Given the description of an element on the screen output the (x, y) to click on. 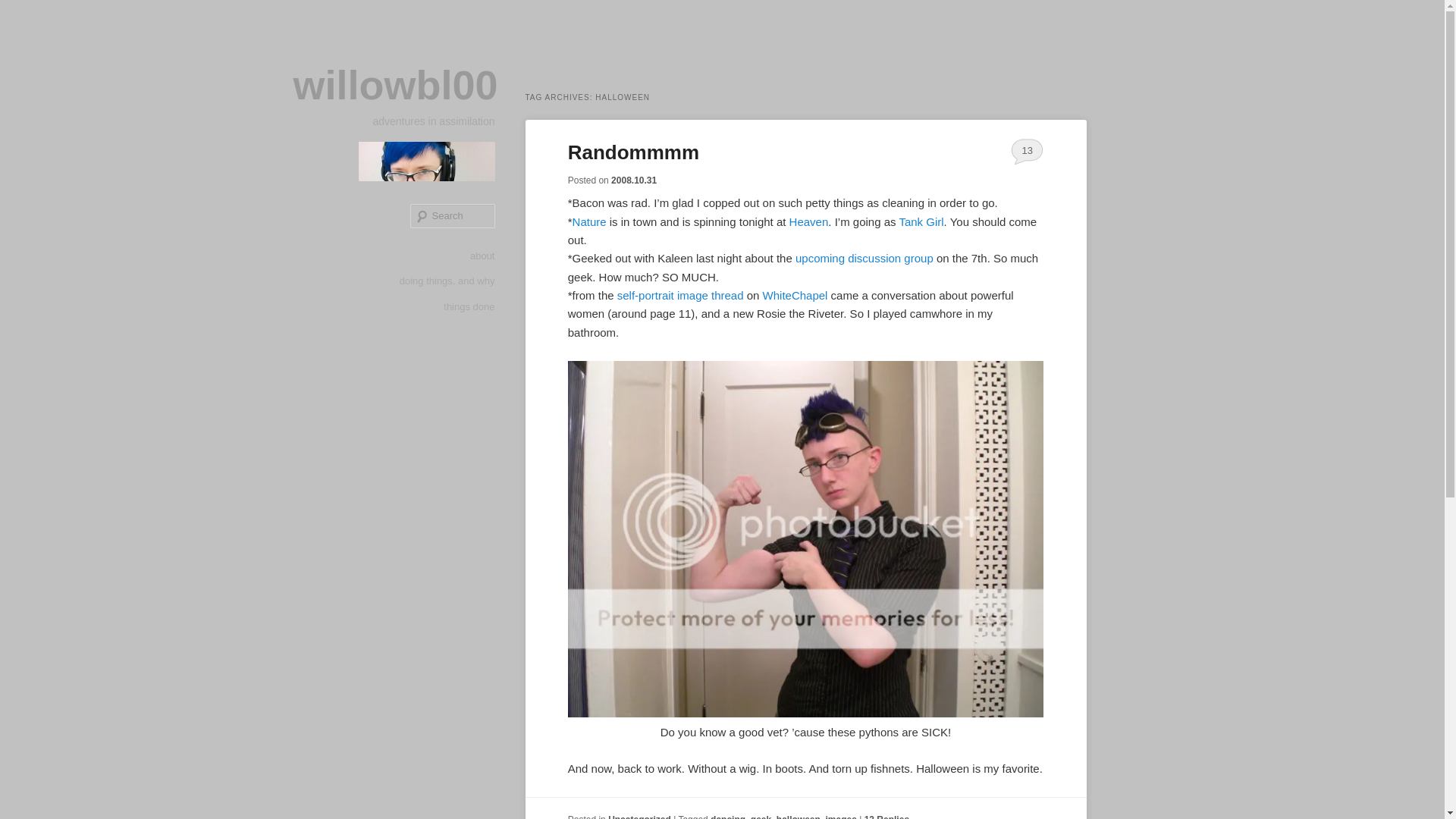
dancing (727, 816)
13 (1026, 150)
geek (761, 816)
WhiteChapel (795, 295)
willowbl00 (394, 84)
13 Replies (886, 816)
Uncategorized (639, 816)
2008.10.31 (633, 180)
Heaven (808, 221)
doing things, and why (446, 281)
